Given the description of an element on the screen output the (x, y) to click on. 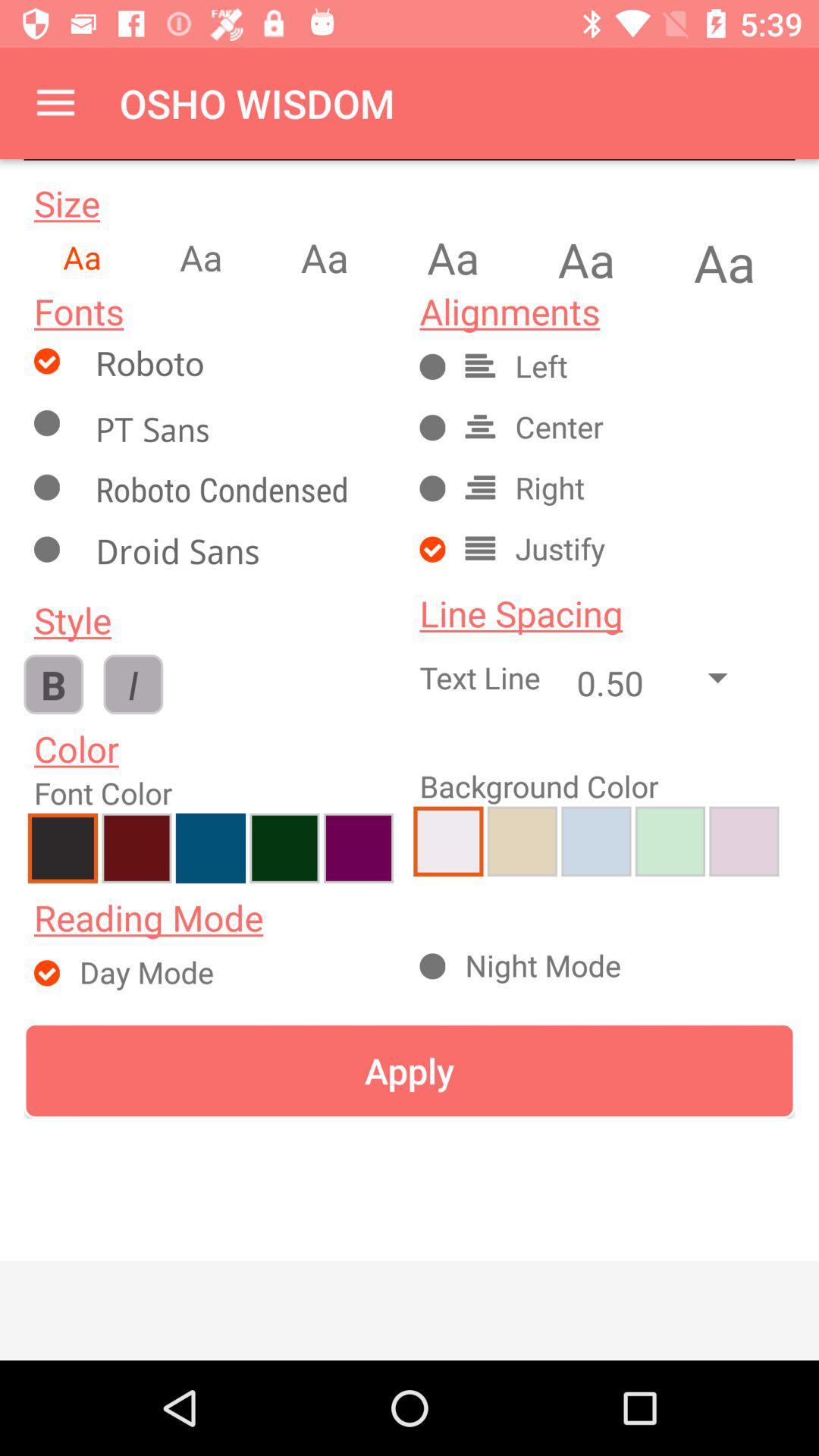
click to add sea green as back ground color (670, 841)
